Given the description of an element on the screen output the (x, y) to click on. 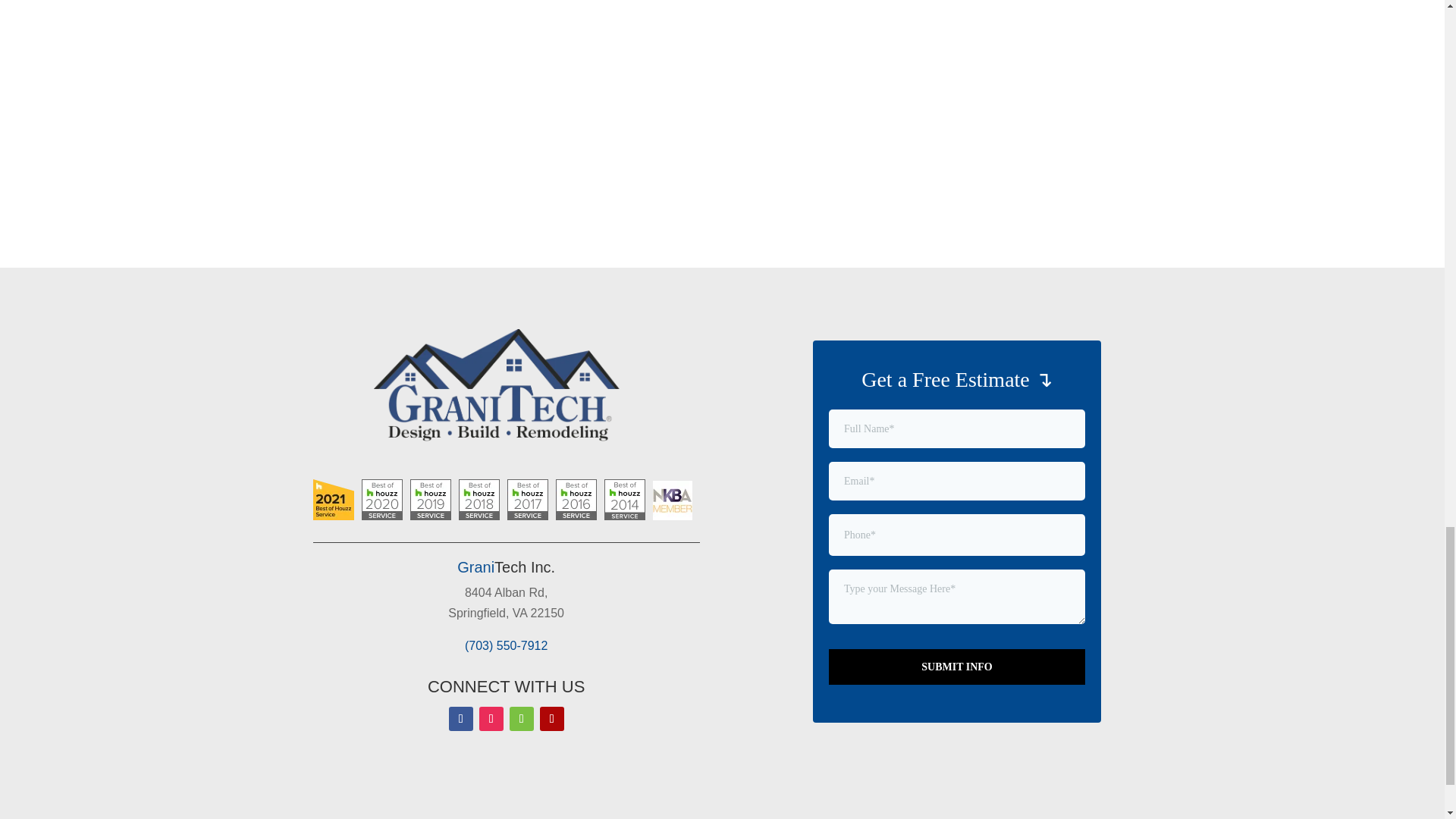
2018 (478, 499)
2014 (624, 499)
2019 (429, 499)
2017 (526, 499)
2020 (381, 499)
2021 (333, 499)
granitech-logo-new (506, 388)
Follow on Facebook (460, 718)
2016 (574, 499)
nkba (671, 500)
